Given the description of an element on the screen output the (x, y) to click on. 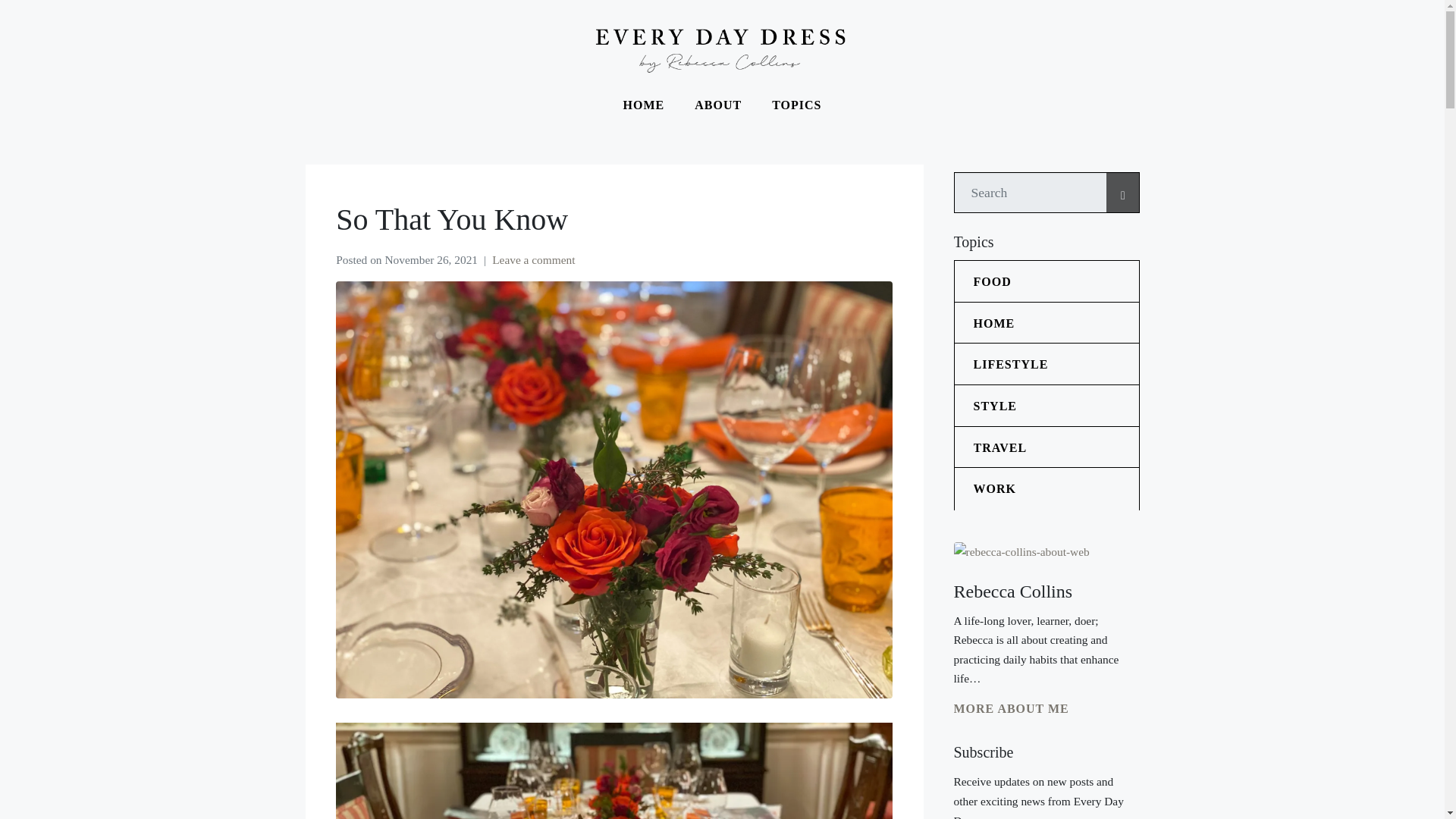
LIFESTYLE (1056, 364)
FOOD (1056, 281)
TOPICS (796, 104)
HOME (643, 104)
TRAVEL (1056, 447)
HOME (1056, 323)
Leave a comment (533, 259)
STYLE (1056, 406)
ABOUT (718, 104)
